Given the description of an element on the screen output the (x, y) to click on. 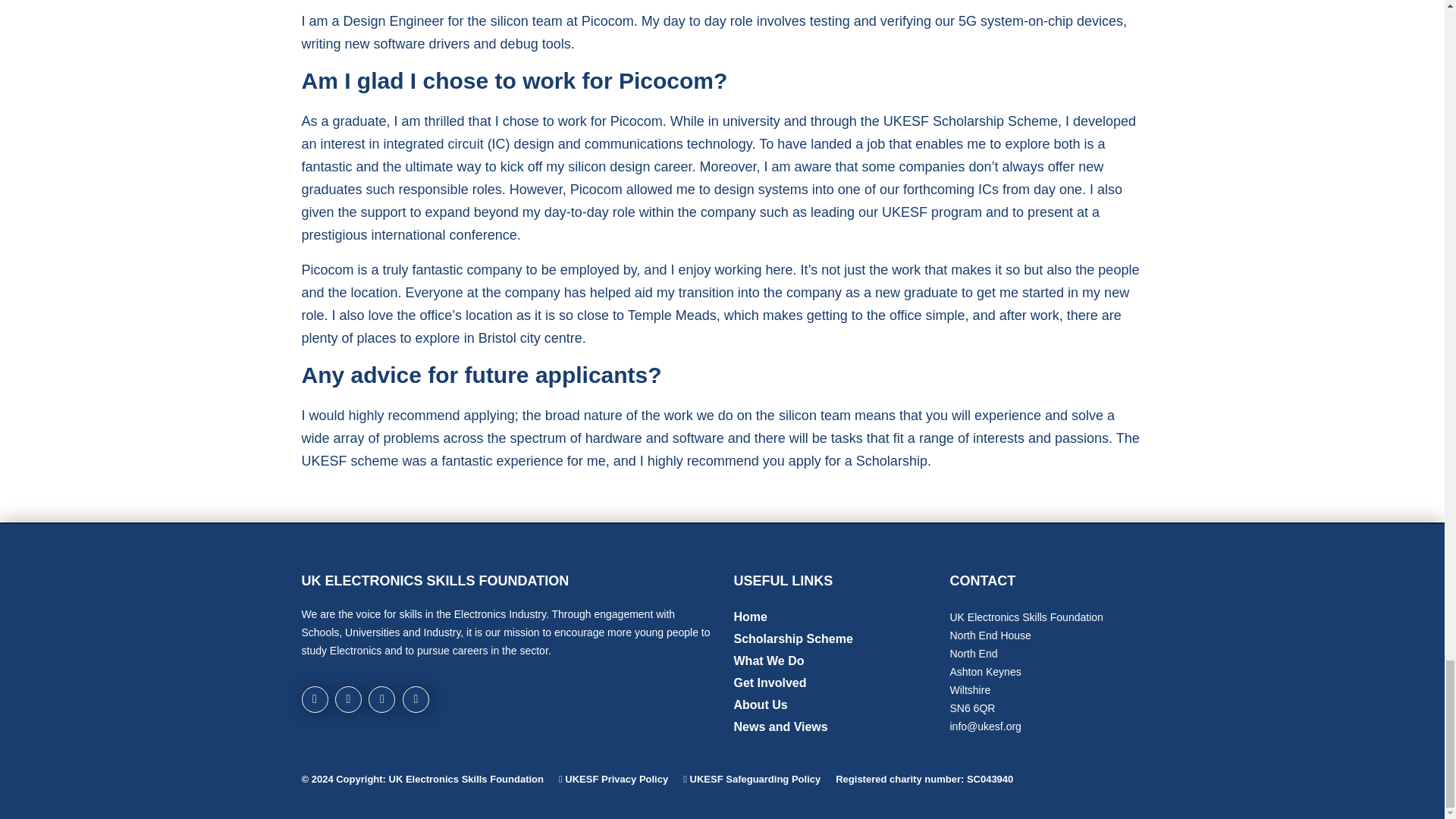
What We Do (769, 660)
Scholarship Scheme (793, 638)
UKESF Privacy Policy (616, 778)
Home (750, 616)
About Us (760, 704)
News and Views (780, 726)
Get Involved (769, 682)
UKESF Safeguarding Policy (755, 778)
